Given the description of an element on the screen output the (x, y) to click on. 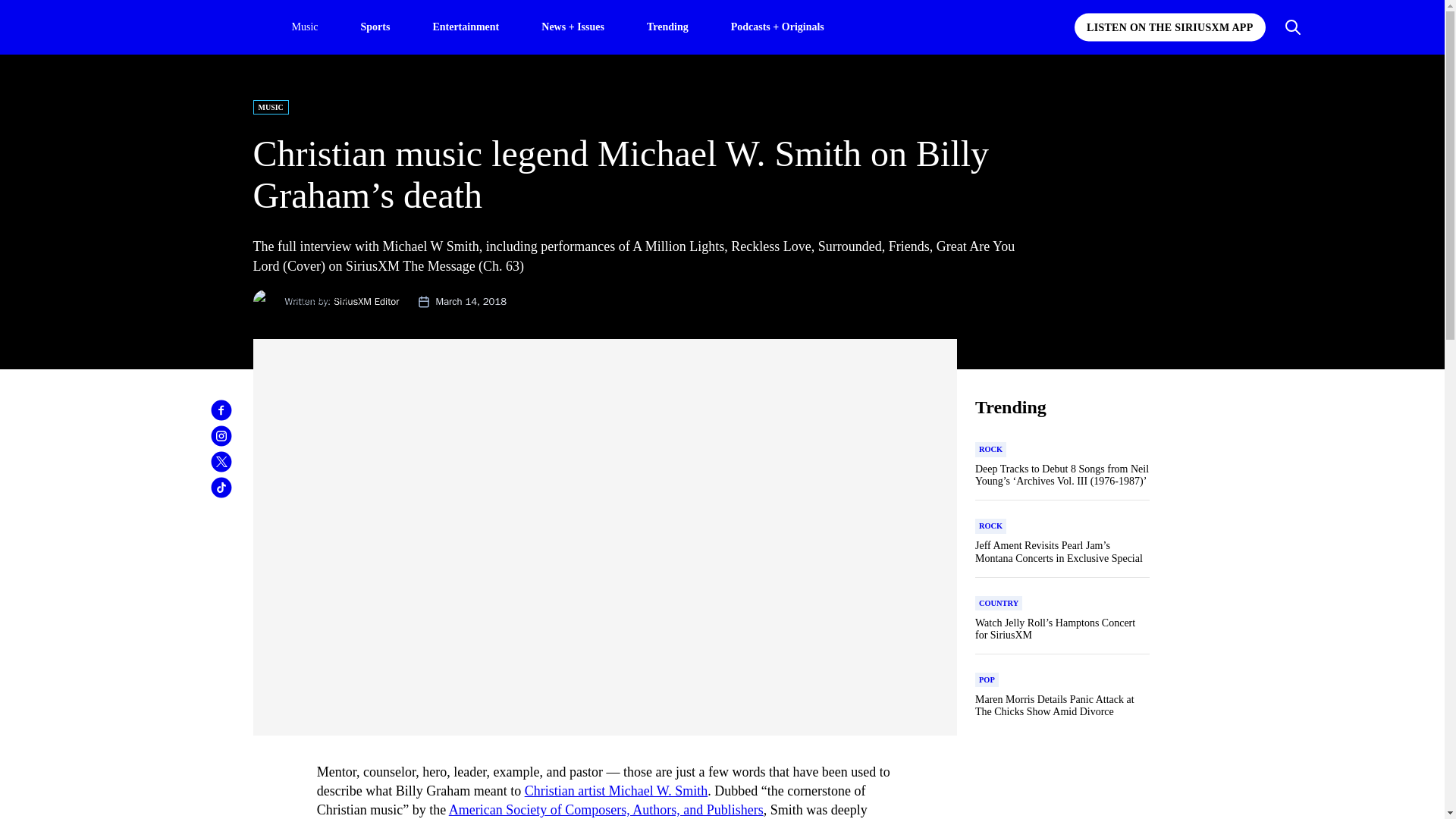
Sports (375, 26)
LISTEN ON THE SIRIUSXM APP (1169, 27)
Entertainment (465, 26)
ROCK (990, 449)
Trending (667, 26)
MUSIC (270, 106)
Christian artist Michael W. Smith (615, 790)
Music (304, 26)
American Society of Composers, Authors, and Publishers (605, 809)
SiriusXM Editor (365, 300)
